Given the description of an element on the screen output the (x, y) to click on. 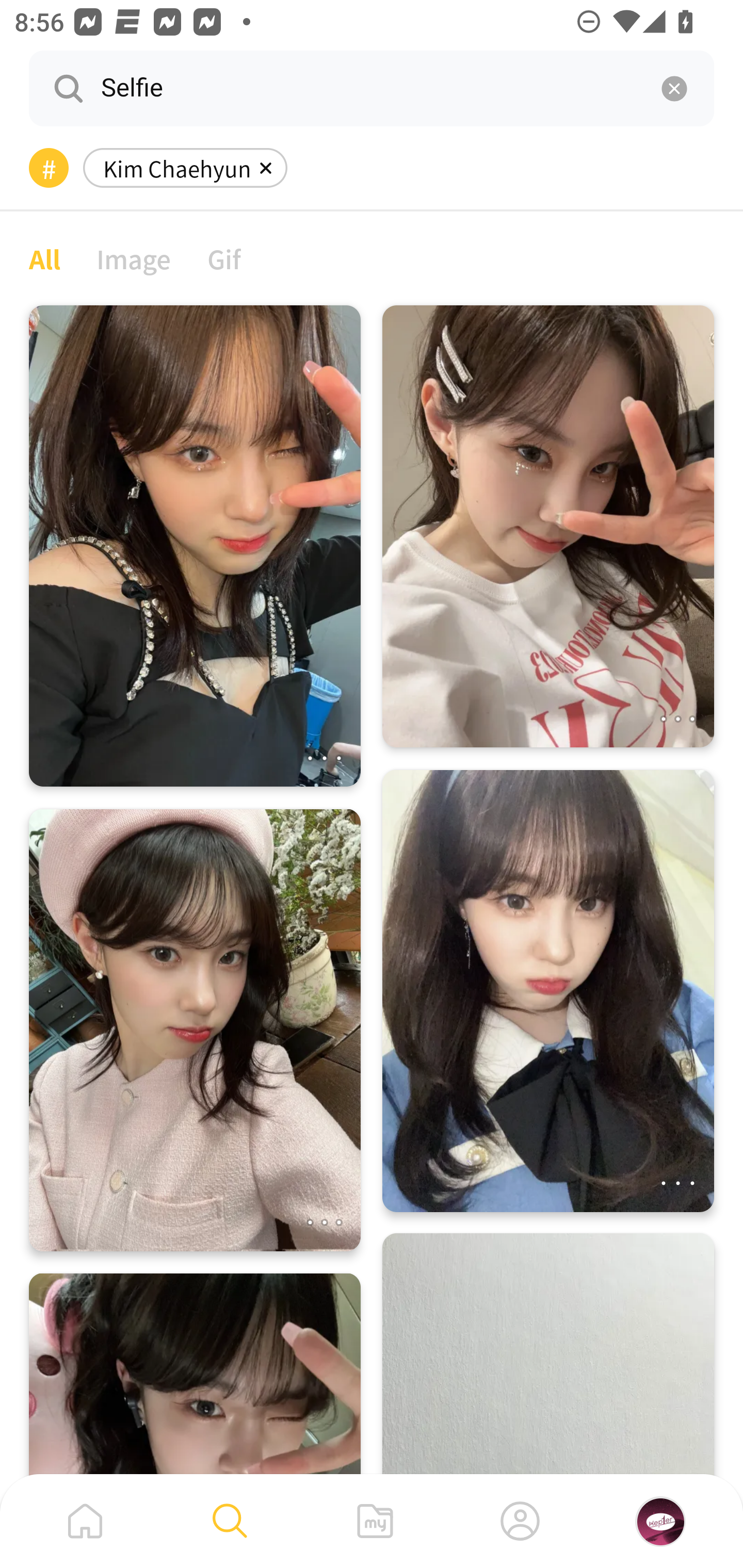
All (44, 257)
Image (133, 257)
Gif (223, 257)
